Given the description of an element on the screen output the (x, y) to click on. 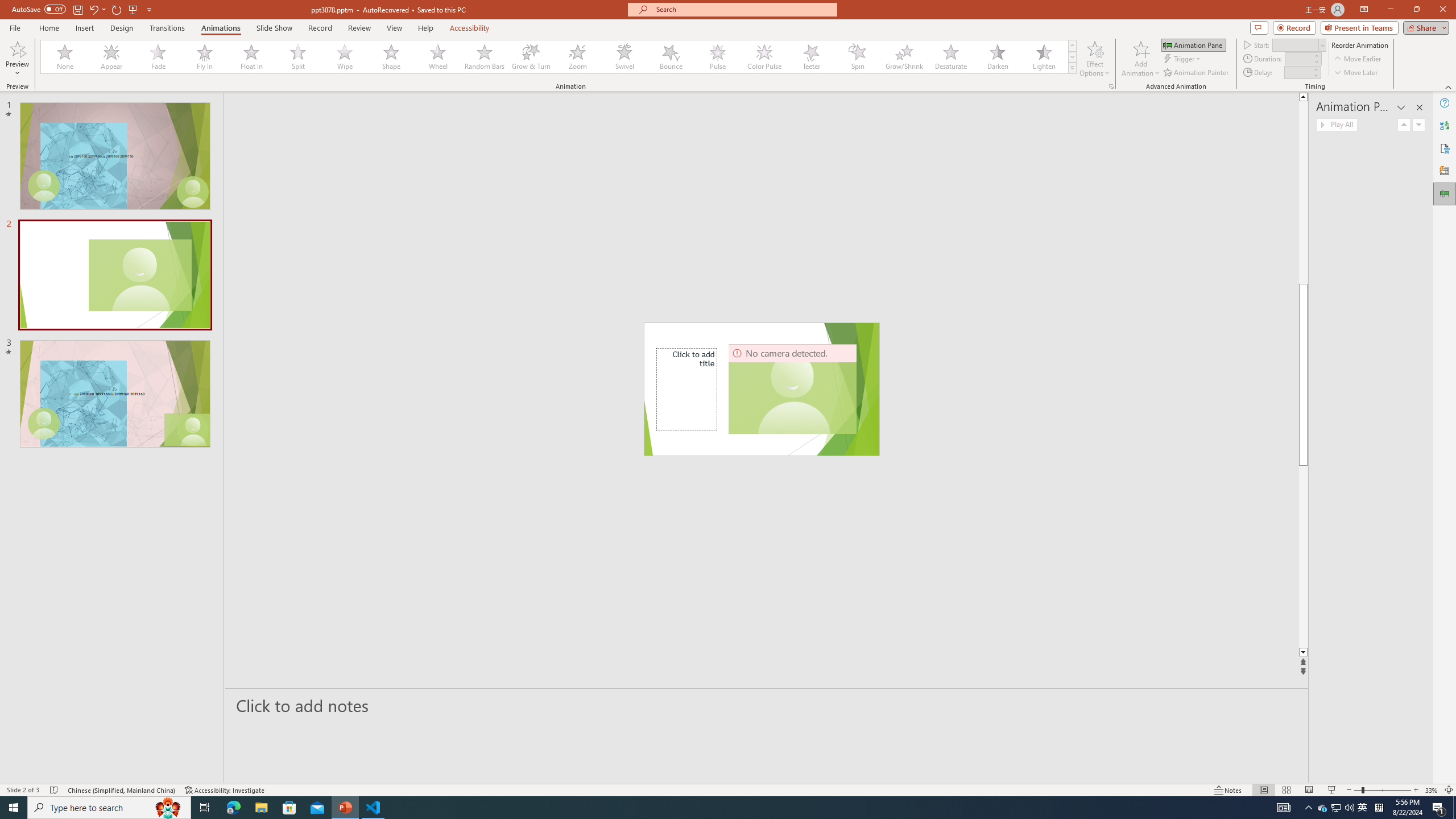
Appear (111, 56)
Fly In (205, 56)
Animation Delay (1297, 72)
Move Up (1403, 124)
Wheel (437, 56)
Animation Pane (1444, 193)
